Given the description of an element on the screen output the (x, y) to click on. 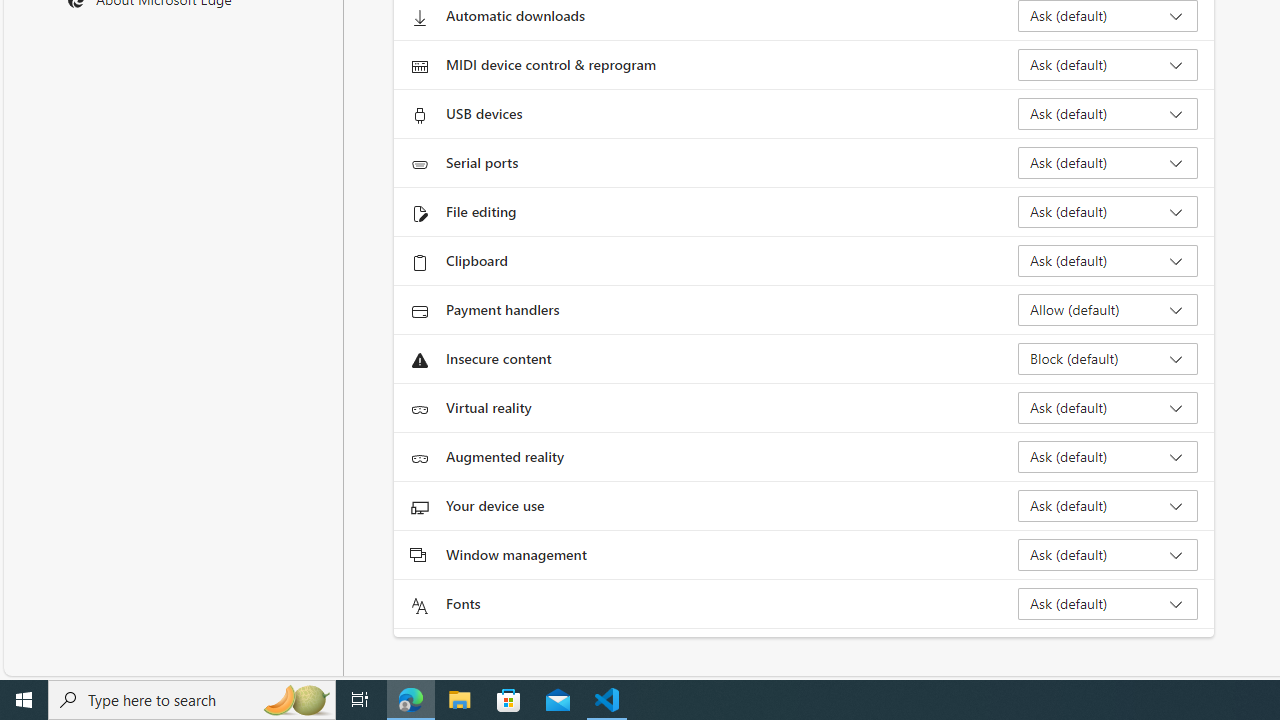
MIDI device control & reprogram Ask (default) (1107, 64)
Insecure content Block (default) (1107, 358)
Window management Ask (default) (1107, 554)
Payment handlers Allow (default) (1107, 309)
Automatic downloads Ask (default) (1107, 15)
Fonts Ask (default) (1107, 603)
Virtual reality Ask (default) (1107, 407)
File editing Ask (default) (1107, 211)
Serial ports Ask (default) (1107, 162)
Clipboard Ask (default) (1107, 260)
Your device use Ask (default) (1107, 506)
USB devices Ask (default) (1107, 113)
Augmented reality Ask (default) (1107, 456)
